Given the description of an element on the screen output the (x, y) to click on. 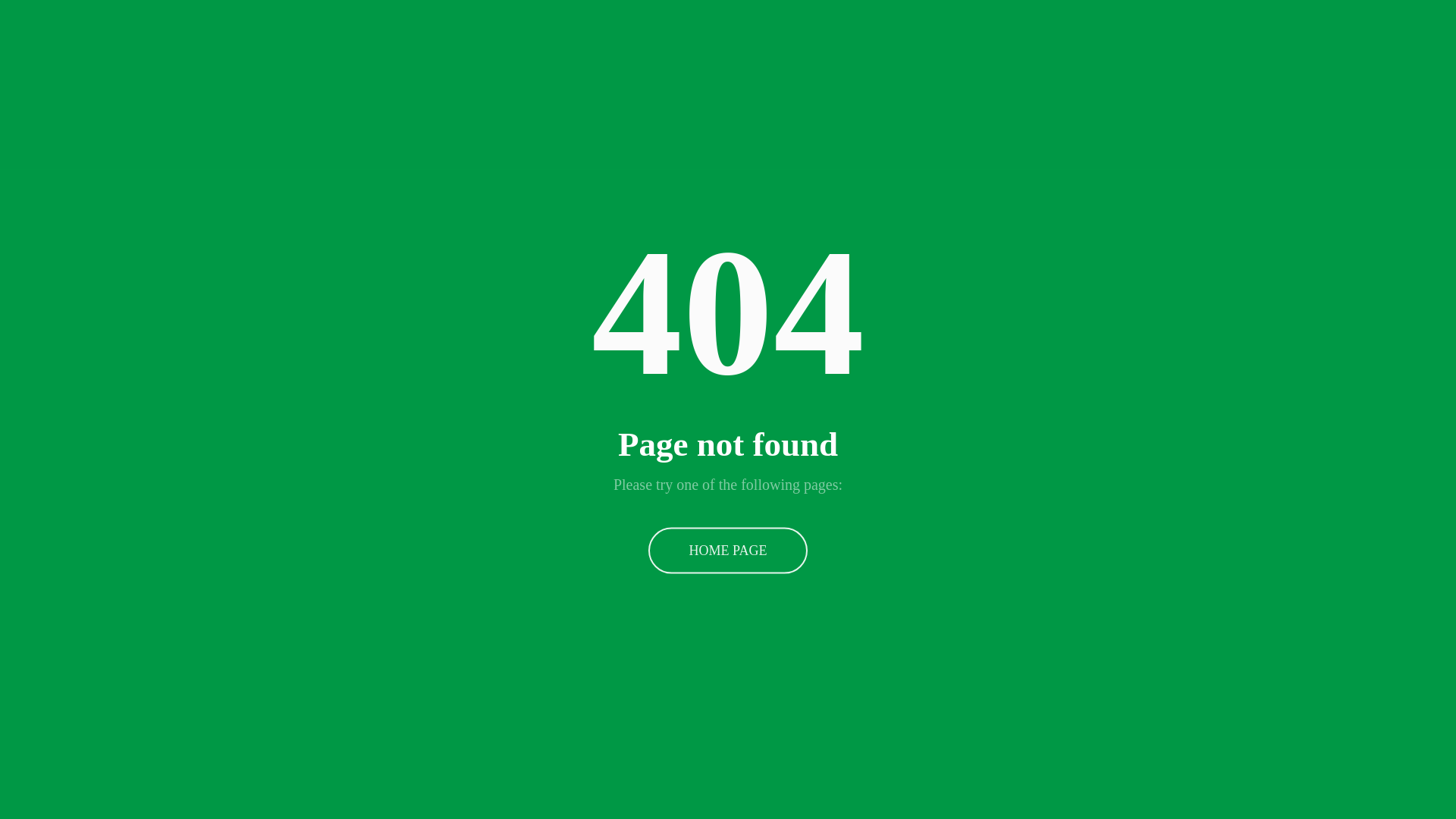
HOME PAGE Element type: text (728, 550)
